Given the description of an element on the screen output the (x, y) to click on. 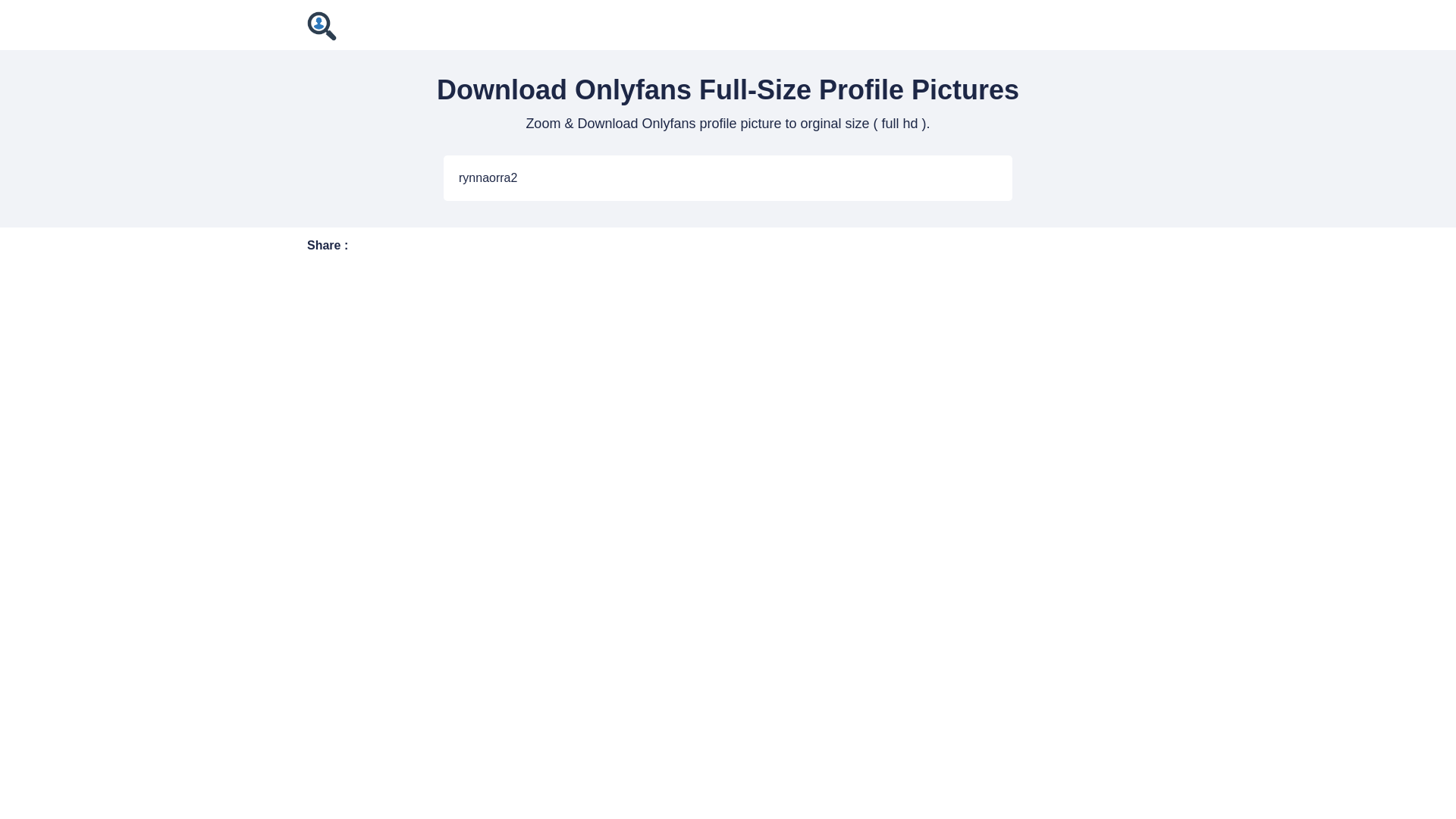
rynnaorra2 (727, 177)
rynnaorra2 (727, 177)
